Given the description of an element on the screen output the (x, y) to click on. 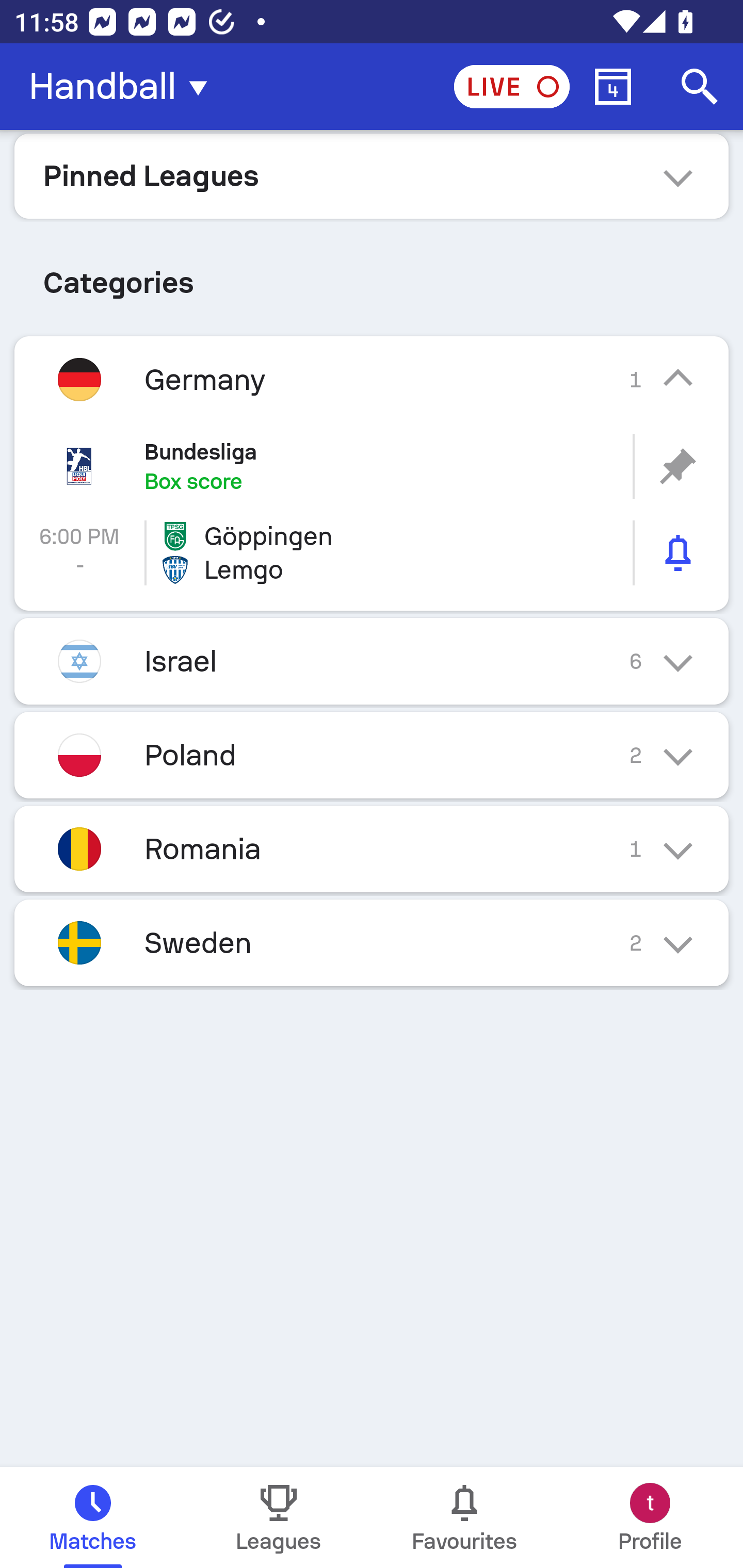
Handball (124, 86)
Calendar (612, 86)
Search (699, 86)
Pinned Leagues (371, 175)
Categories (371, 275)
Germany 1 (371, 379)
Bundesliga Box score (371, 466)
6:00 PM - Göppingen Lemgo (371, 552)
Israel 6 (371, 660)
Poland 2 (371, 754)
Romania 1 (371, 848)
Sweden 2 (371, 943)
Leagues (278, 1517)
Favourites (464, 1517)
Profile (650, 1517)
